Given the description of an element on the screen output the (x, y) to click on. 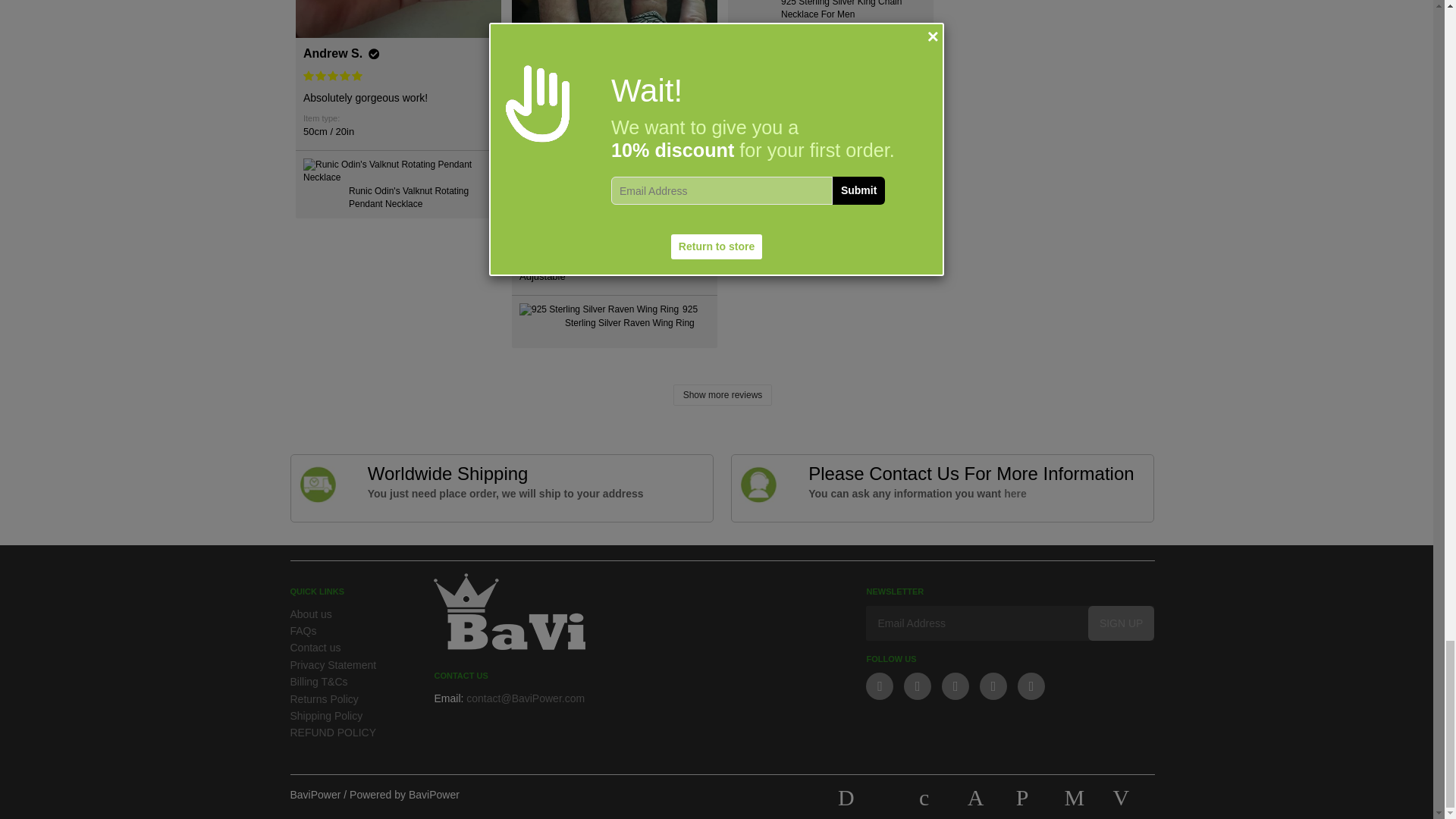
SIGN UP (1120, 623)
BaviPower on Youtube (955, 686)
BaviPower on Facebook (917, 686)
BaviPower on Twitter (879, 686)
BaviPower on Pinterest (1031, 686)
BaviPower on Instagram (993, 686)
